Given the description of an element on the screen output the (x, y) to click on. 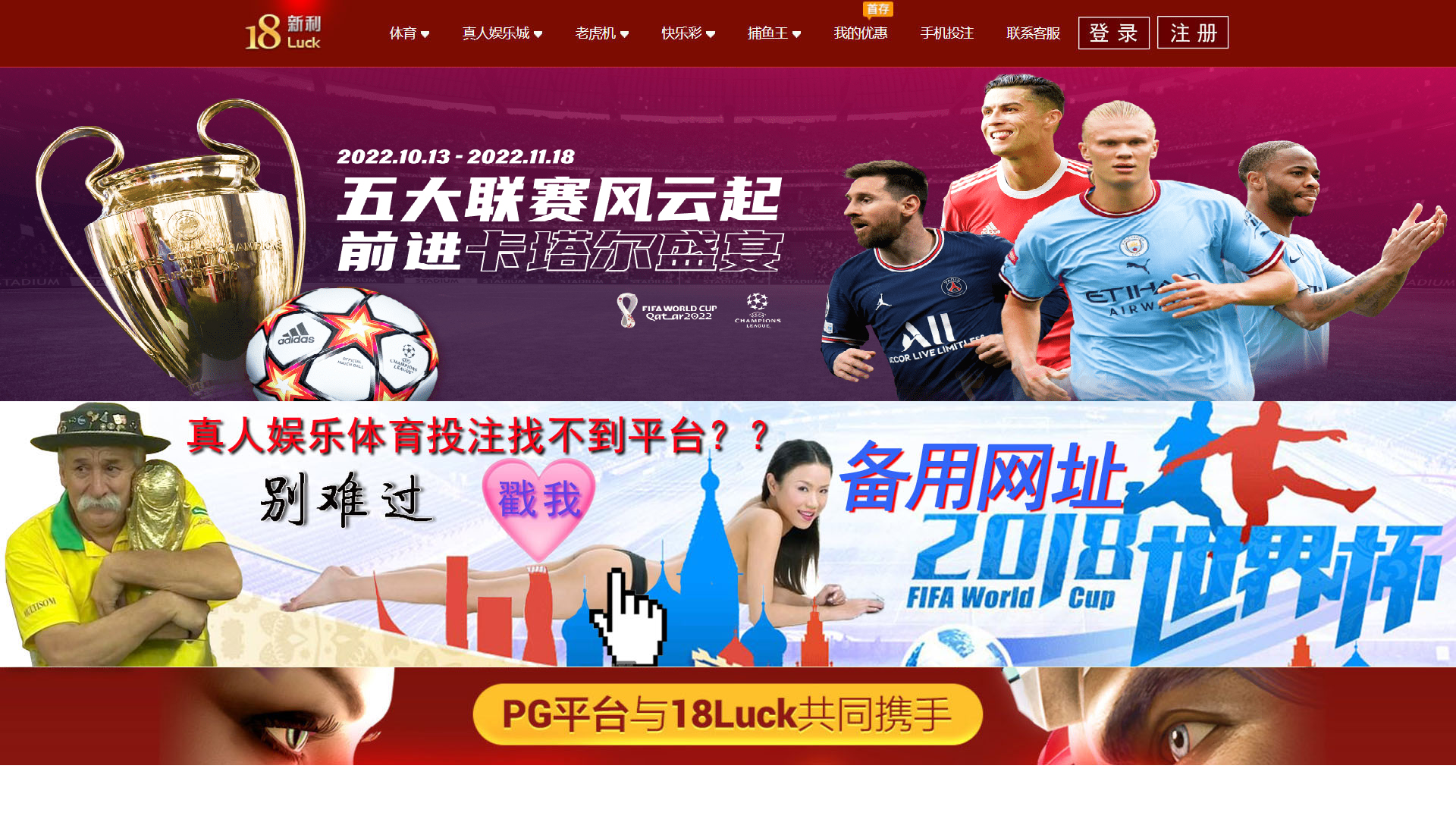
BKR Element type: text (1151, 14)
